Given the description of an element on the screen output the (x, y) to click on. 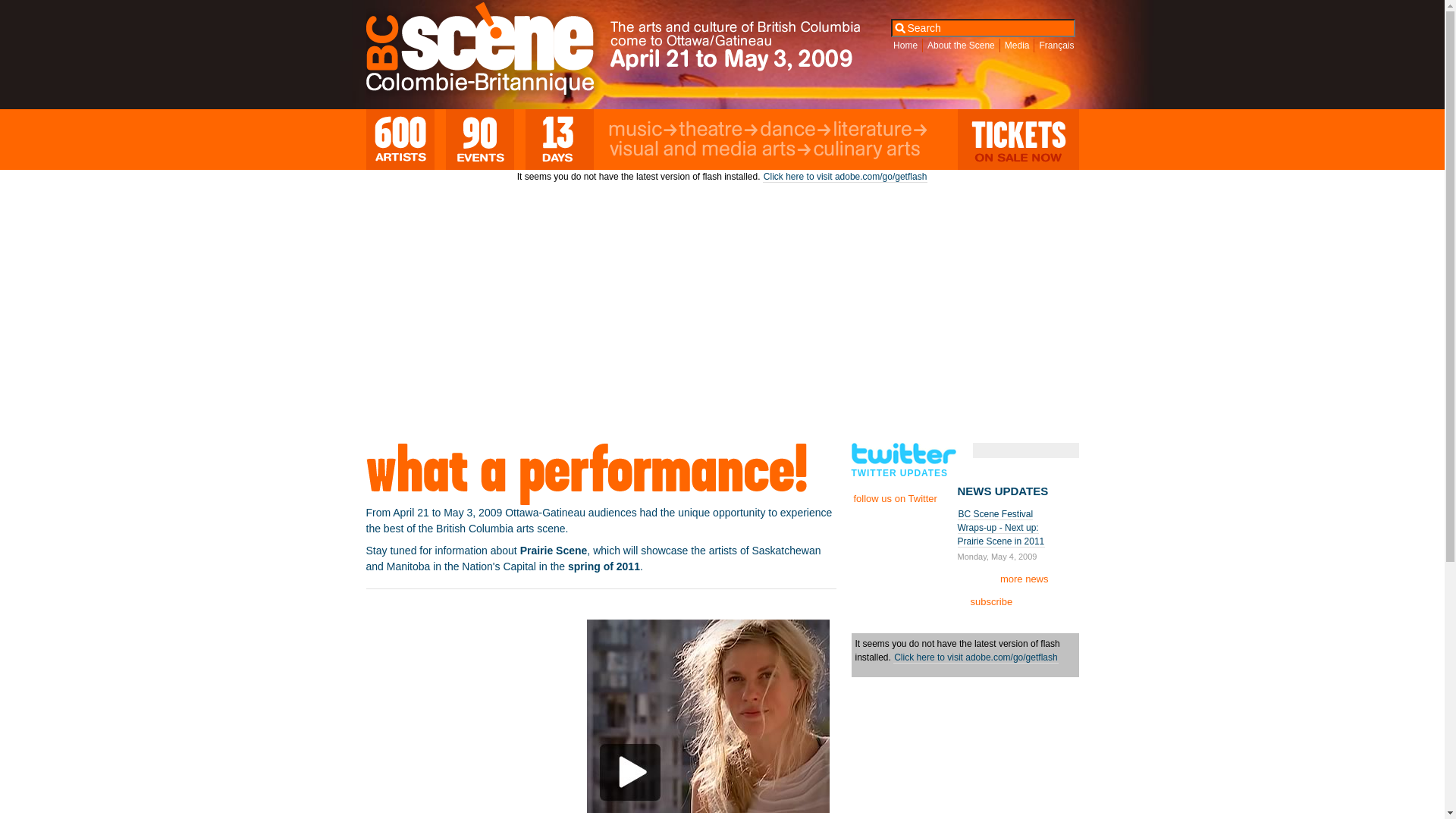
About the Scene Element type: text (960, 45)
more news Element type: text (1030, 578)
follow us on Twitter Element type: text (900, 498)
90 Events Element type: text (479, 139)
Literature Element type: text (879, 130)
Media Element type: text (1017, 45)
BC Scene Festival Wraps-up - Next up: Prairie Scene in 2011 Element type: text (1000, 527)
bc scene Element type: text (489, 52)
Search Element type: text (17, 7)
13 Days Element type: text (558, 139)
Dance Element type: text (794, 130)
Music Element type: text (642, 130)
Click here to visit adobe.com/go/getflash Element type: text (975, 657)
Home Element type: text (905, 45)
Visual and Media Arts Element type: text (709, 150)
Theatre Element type: text (717, 130)
Culinary Arts Element type: text (873, 150)
Tickets Element type: text (1017, 139)
subscribe Element type: text (985, 601)
Click here to visit adobe.com/go/getflash Element type: text (844, 176)
600 Artists Element type: text (399, 139)
